Given the description of an element on the screen output the (x, y) to click on. 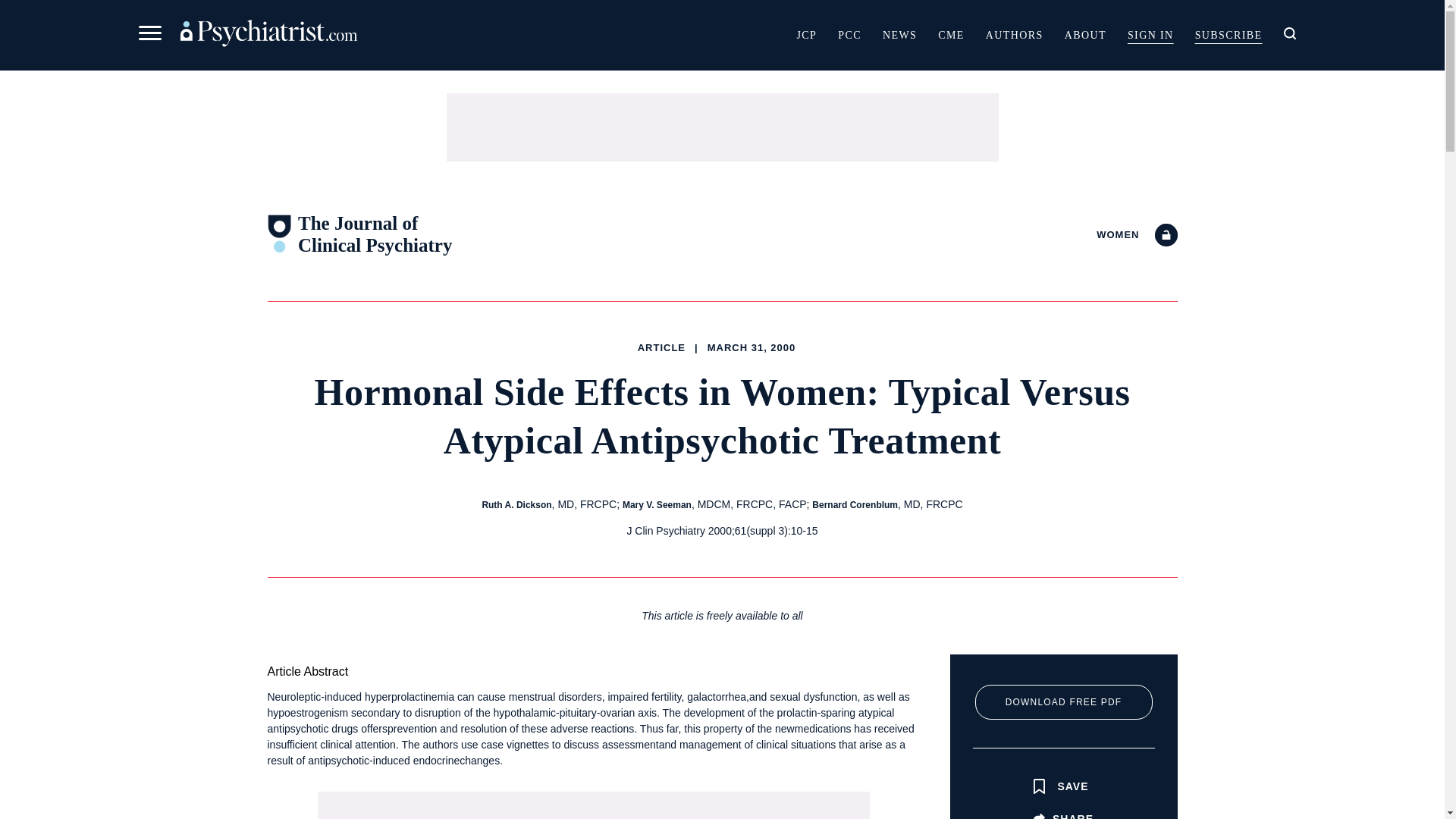
JCP (806, 34)
Site Search (1288, 33)
ABOUT (1085, 34)
SIGN IN (1150, 34)
CME (951, 34)
SUBSCRIBE (1228, 34)
Search (959, 135)
NEWS (899, 34)
PCC (849, 34)
AUTHORS (1014, 34)
